Given the description of an element on the screen output the (x, y) to click on. 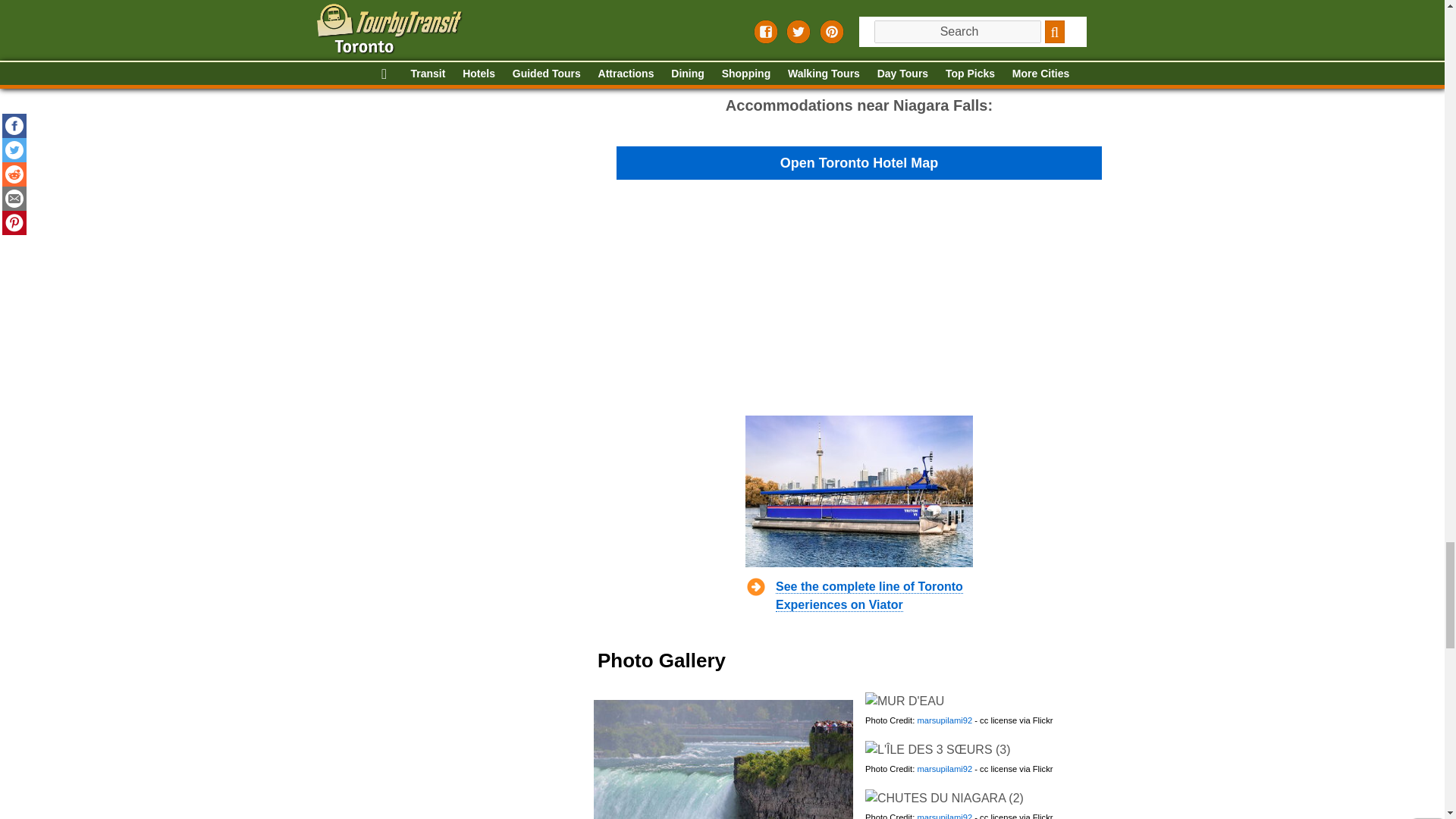
See the complete line of Toronto Experiences on Viator (868, 595)
marsupilami92 (944, 768)
marsupilami92 (944, 816)
Click to Enlarge (943, 798)
Click to Enlarge (937, 750)
Click to Enlarge (903, 701)
Click to Enlarge (721, 759)
Open Toronto Hotel Map (857, 163)
marsupilami92 (944, 719)
